Given the description of an element on the screen output the (x, y) to click on. 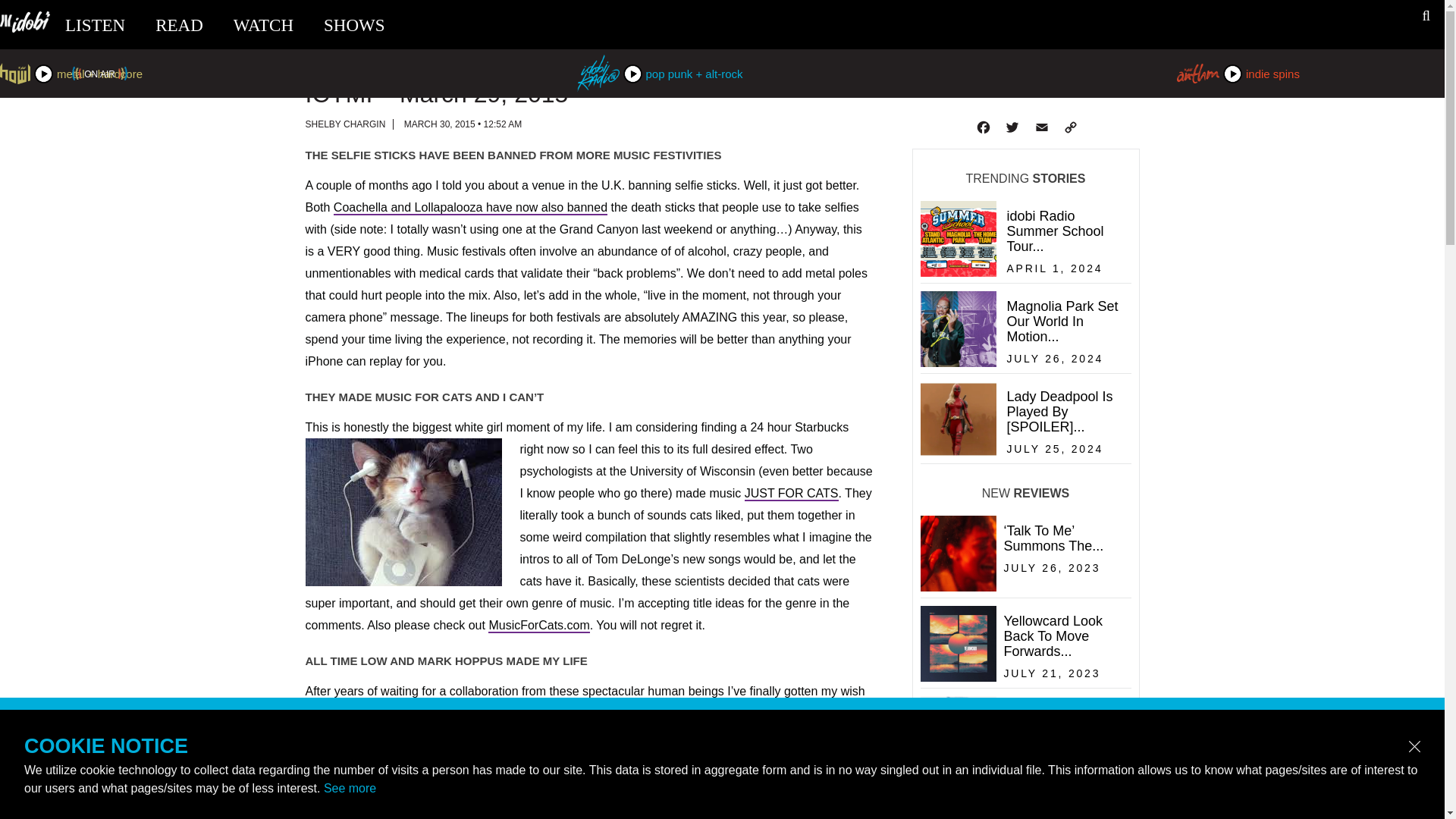
Coachella and Lollapalooza have now also banned (470, 207)
SHOWS (354, 24)
MusicForCats.com (538, 626)
LISTEN (95, 24)
SHELBY CHARGIN (344, 123)
READ (179, 24)
JUST FOR CATS (791, 493)
Shelby Chargin (344, 123)
WATCH (263, 24)
